Given the description of an element on the screen output the (x, y) to click on. 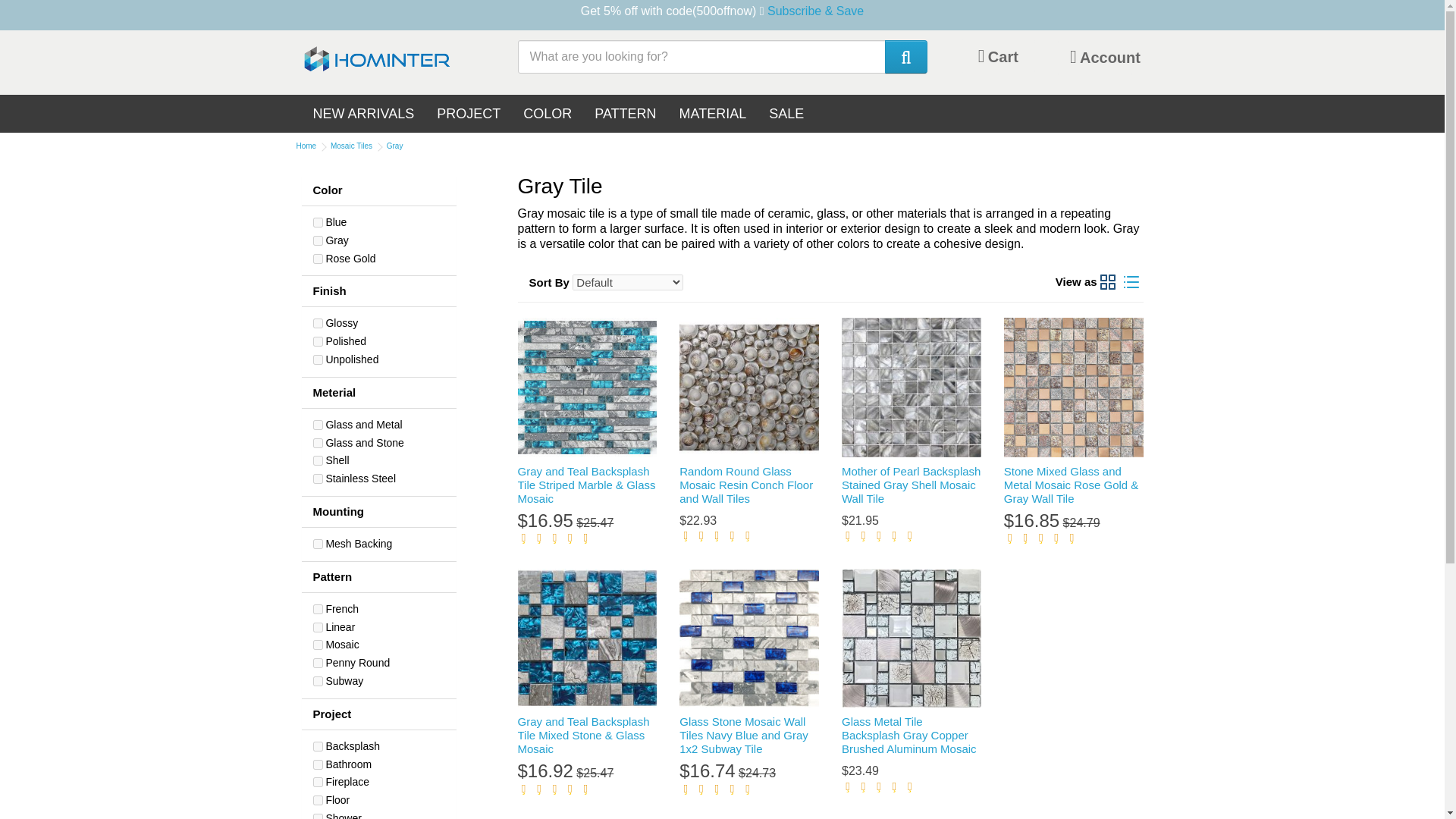
38 (317, 681)
5 (317, 240)
13 (317, 479)
PATTERN (624, 113)
22 (317, 764)
21 (317, 746)
COLOR (547, 113)
Random Round Glass Mosaic Resin Conch Floor and Wall Tiles  (748, 387)
Cart (997, 55)
MATERIAL (713, 113)
16 (317, 323)
34 (317, 627)
32 (317, 609)
